Given the description of an element on the screen output the (x, y) to click on. 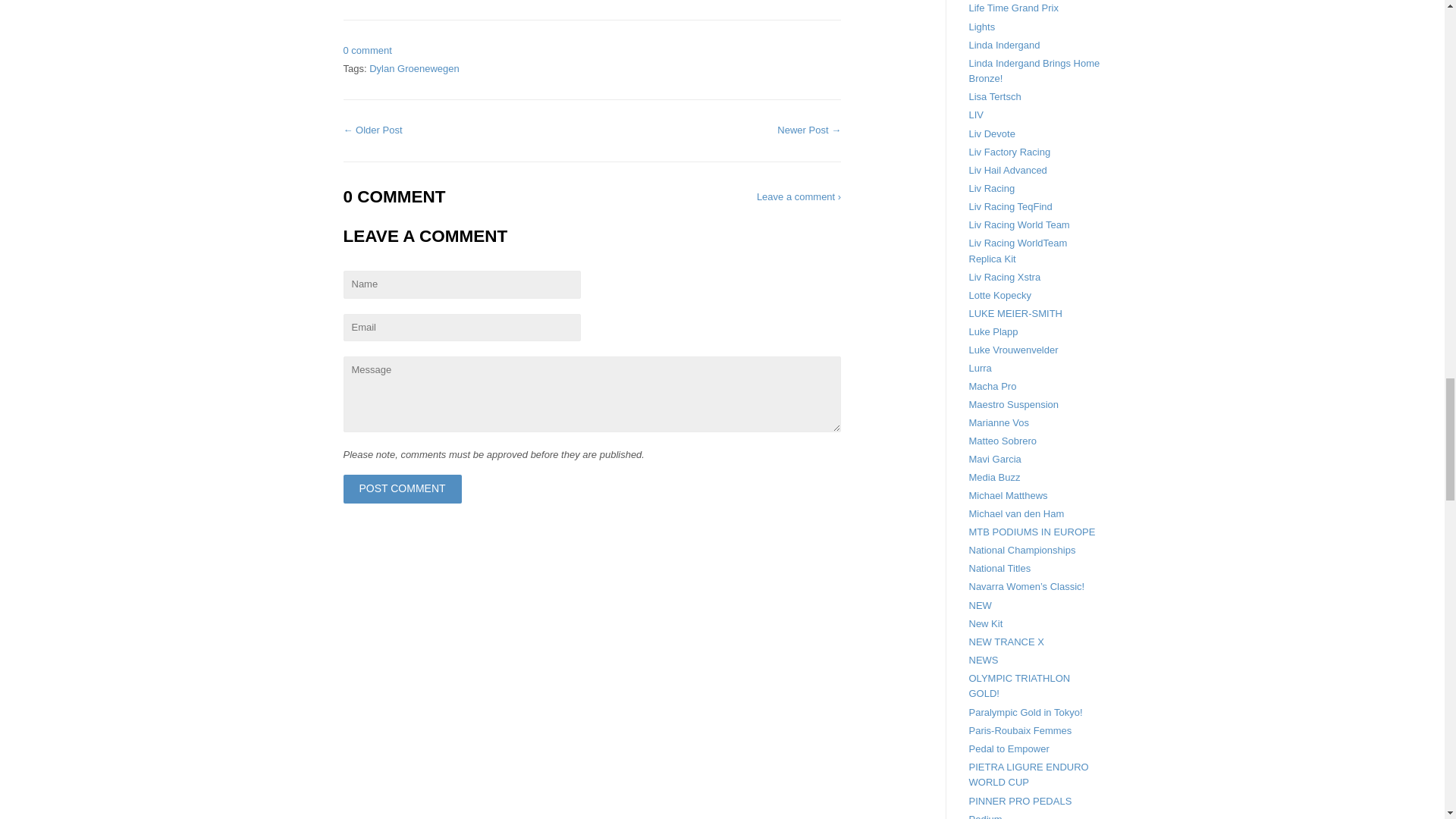
Post comment (401, 489)
